Given the description of an element on the screen output the (x, y) to click on. 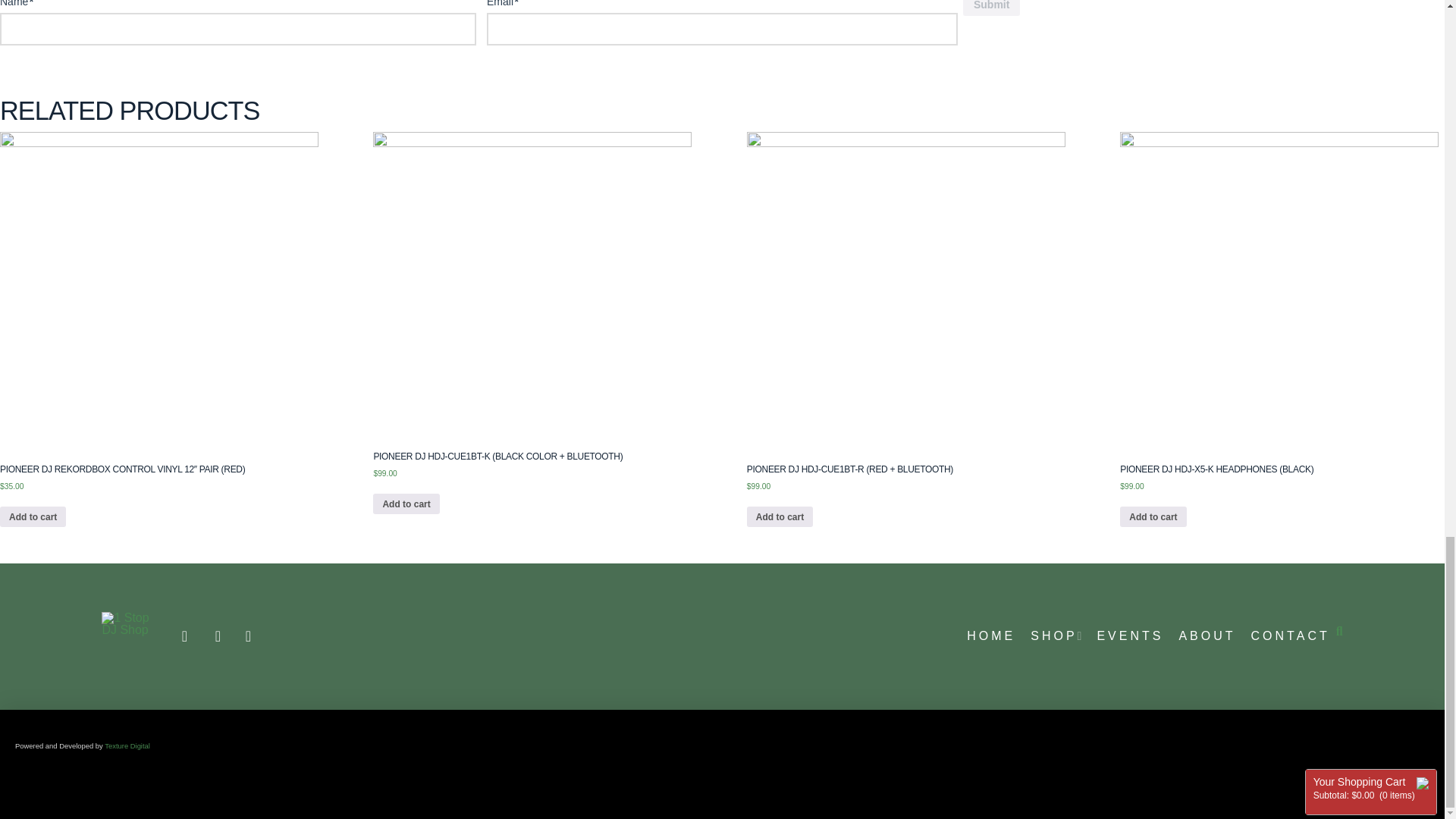
Submit (991, 7)
Add to cart (32, 516)
Add to cart (779, 516)
Submit (991, 7)
Add to cart (405, 503)
